Given the description of an element on the screen output the (x, y) to click on. 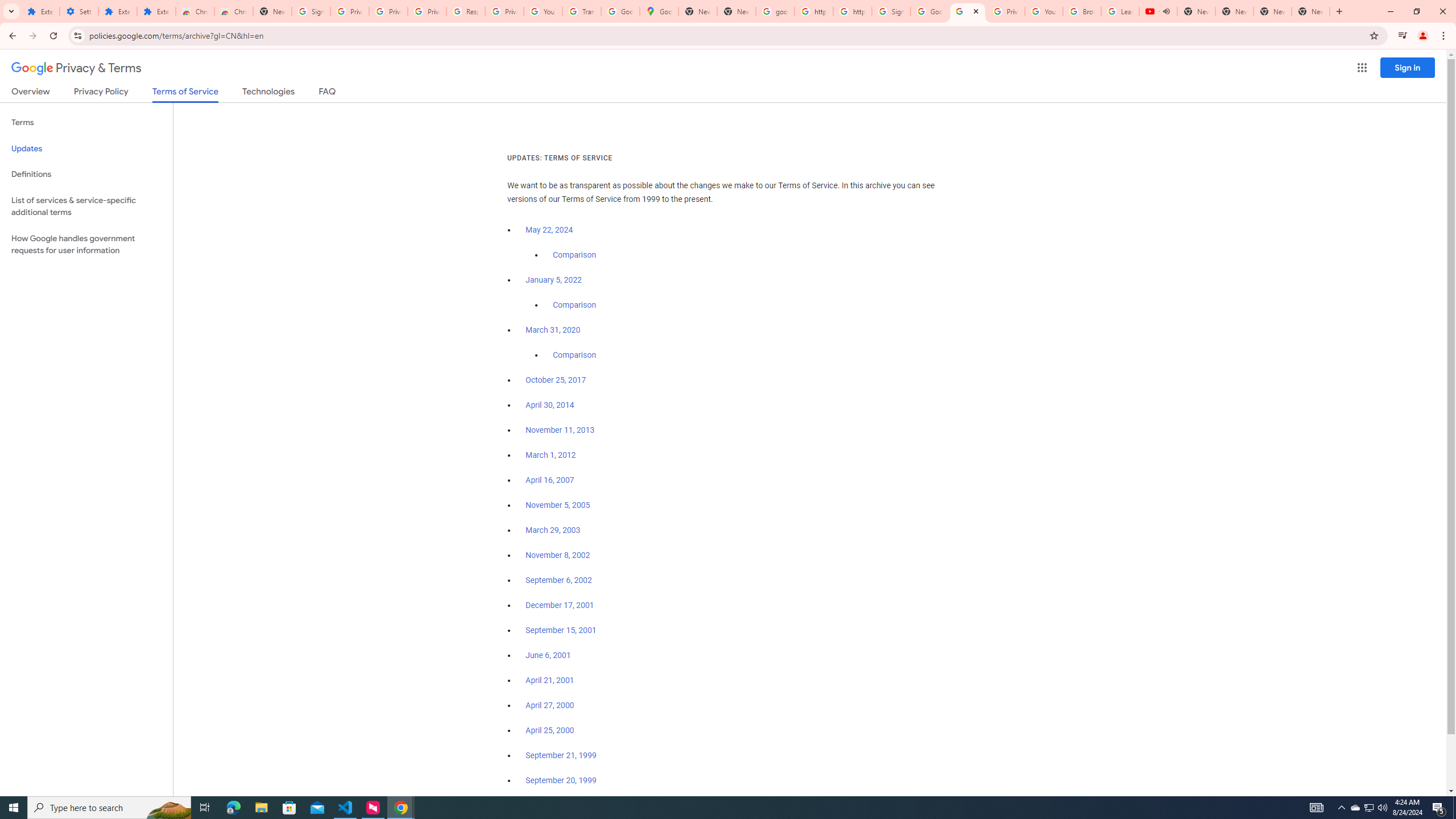
Terms (86, 122)
Browse Chrome as a guest - Computer - Google Chrome Help (1082, 11)
New Tab (1311, 11)
Sign in - Google Accounts (890, 11)
Settings (79, 11)
Privacy & Terms (76, 68)
November 11, 2013 (560, 430)
Comparison (574, 355)
May 22, 2024 (549, 230)
Extensions (40, 11)
April 25, 2000 (550, 729)
